Given the description of an element on the screen output the (x, y) to click on. 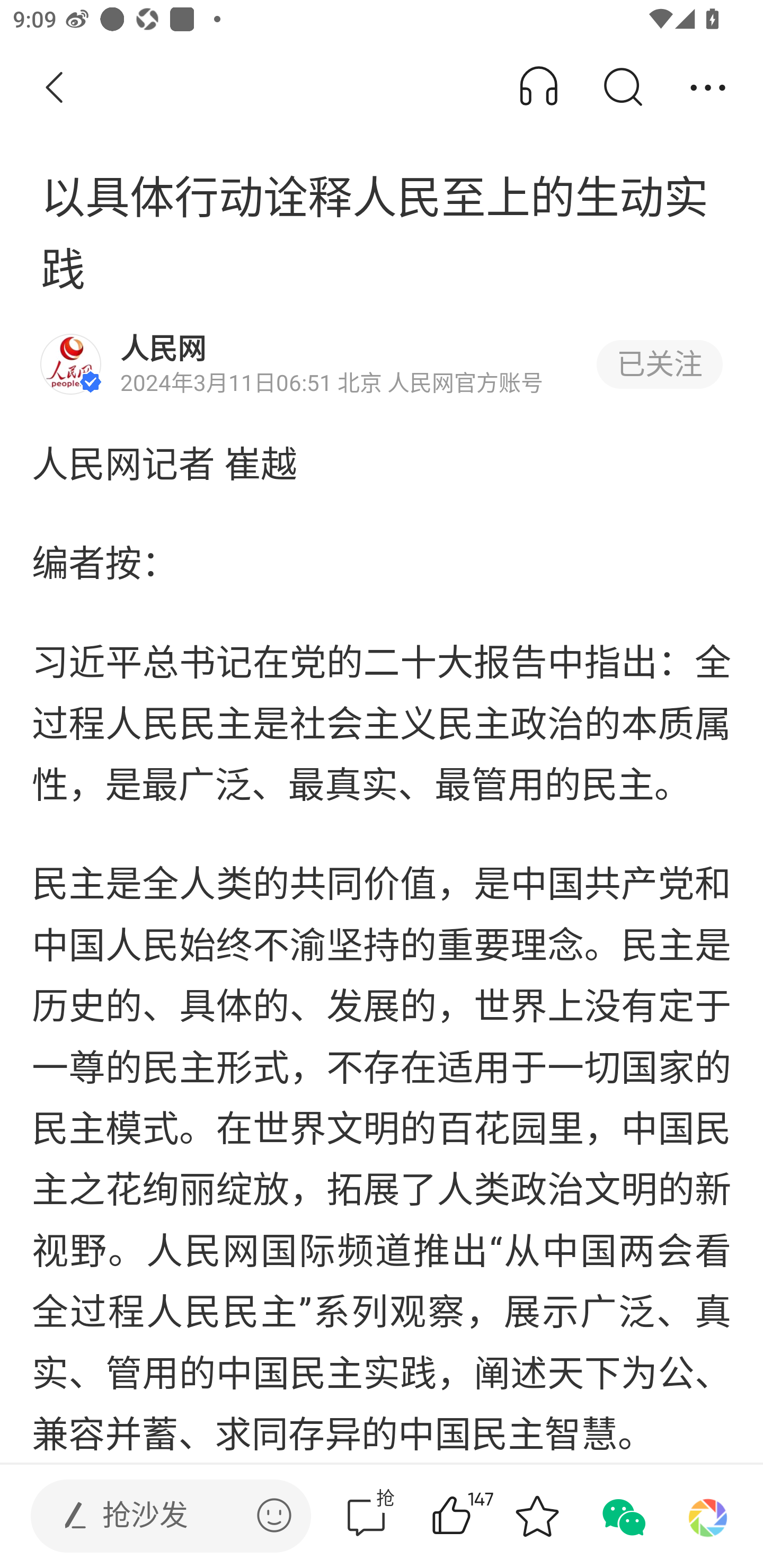
搜索  (622, 87)
分享  (707, 87)
 返回 (54, 87)
人民网 2024年3月11日06:51 北京 人民网官方账号 已关注 (381, 364)
已关注 (659, 364)
发表评论  抢沙发 发表评论  (155, 1516)
抢评论  抢 评论 (365, 1516)
147赞 (476, 1516)
收藏  (536, 1516)
分享到微信  (622, 1516)
分享到朋友圈 (707, 1516)
 (274, 1515)
